Given the description of an element on the screen output the (x, y) to click on. 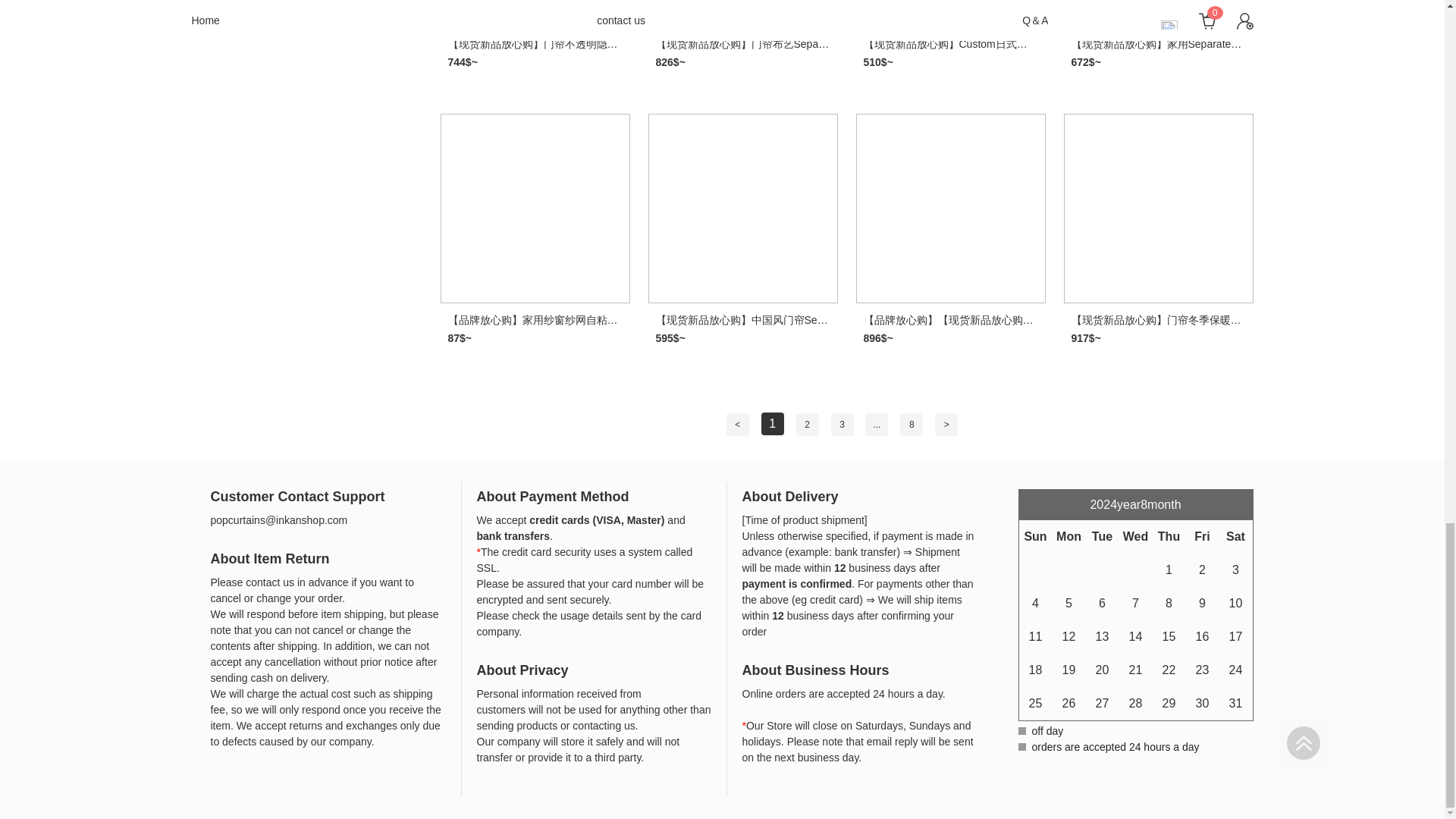
1 (772, 423)
